Given the description of an element on the screen output the (x, y) to click on. 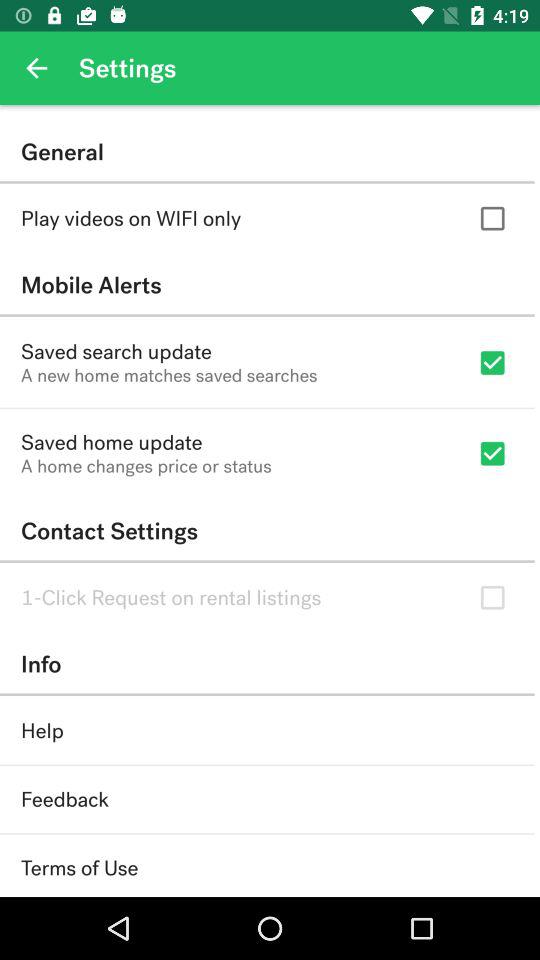
tap icon above the saved search update icon (267, 284)
